Given the description of an element on the screen output the (x, y) to click on. 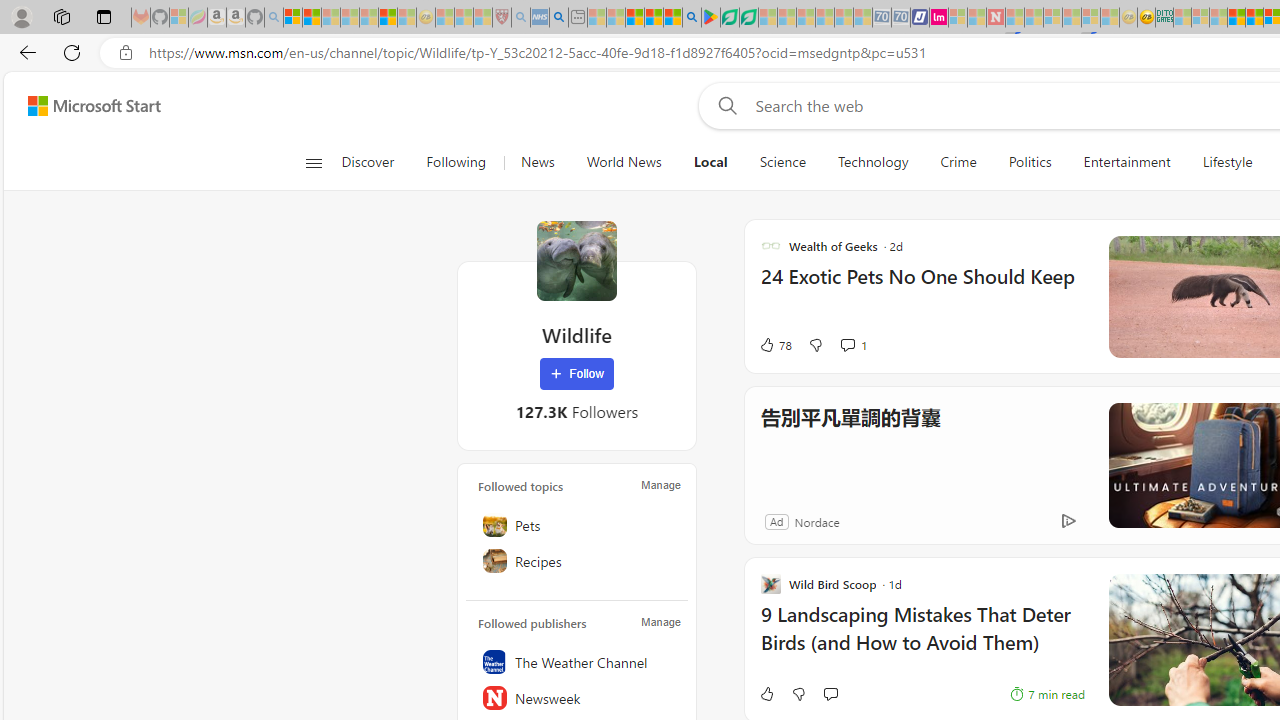
Like (766, 694)
Expert Portfolios (1236, 17)
Wildlife (576, 260)
Follow (577, 373)
78 Like (775, 344)
